Given the description of an element on the screen output the (x, y) to click on. 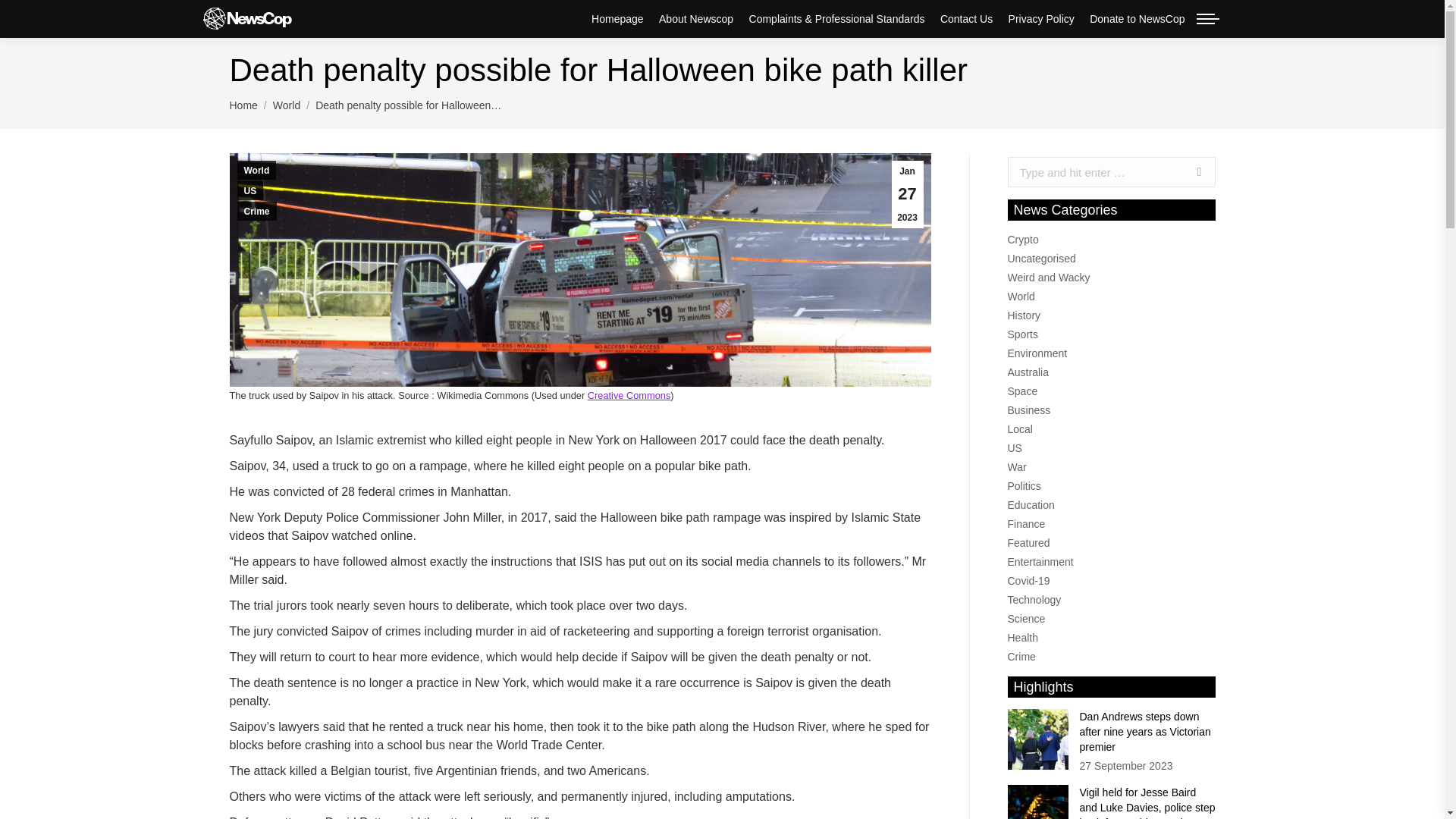
About Newscop (696, 18)
9:50 am (907, 194)
Go! (1191, 172)
Homepage (617, 18)
Contact Us (966, 18)
Donate to NewsCop (1137, 18)
Go! (1191, 172)
Privacy Policy (1041, 18)
